Given the description of an element on the screen output the (x, y) to click on. 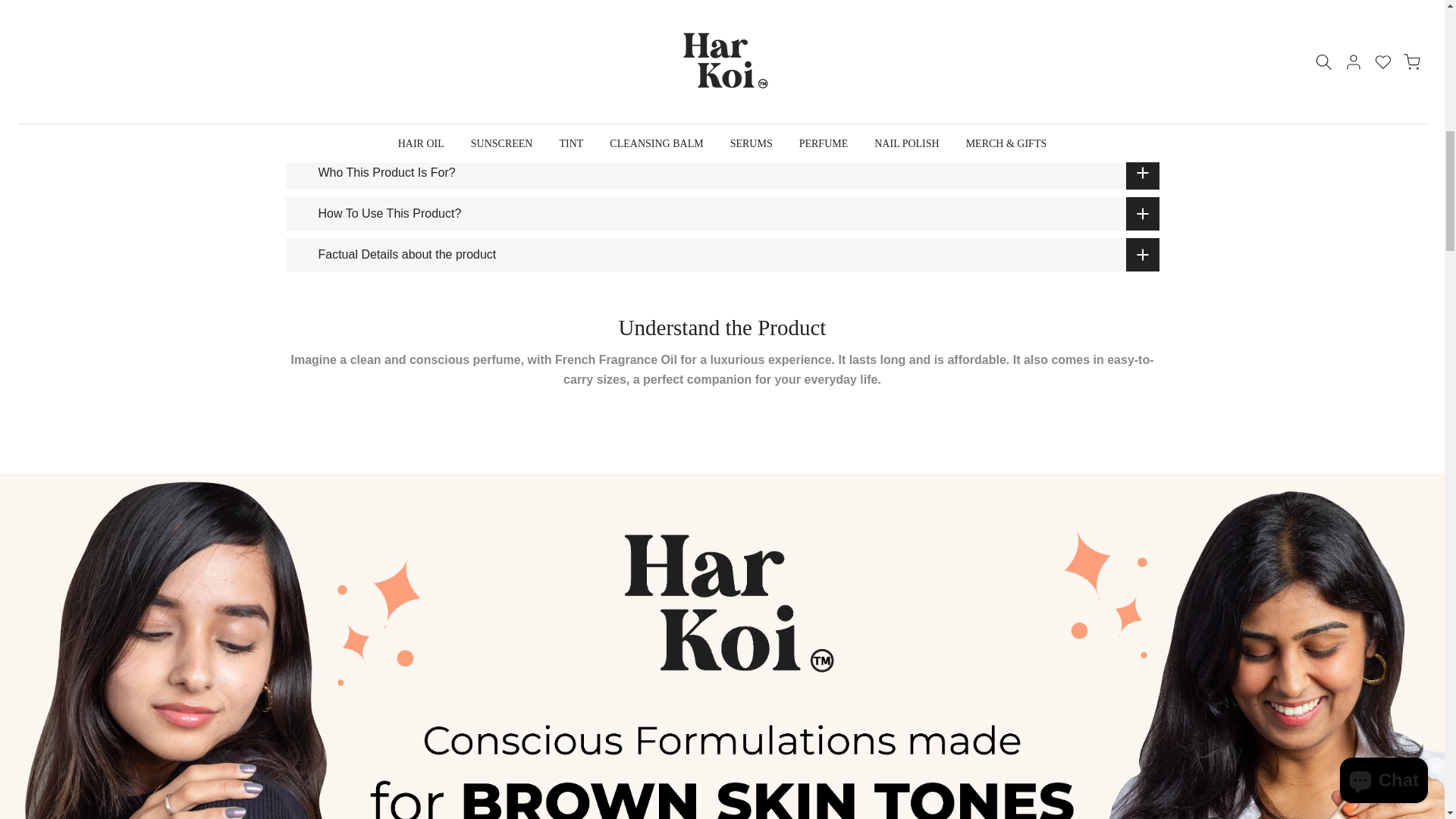
Who This Product Is For? (721, 172)
How To Use This Product? (721, 213)
What is Inside the Product? (721, 42)
Factual Details about the product (721, 254)
